Given the description of an element on the screen output the (x, y) to click on. 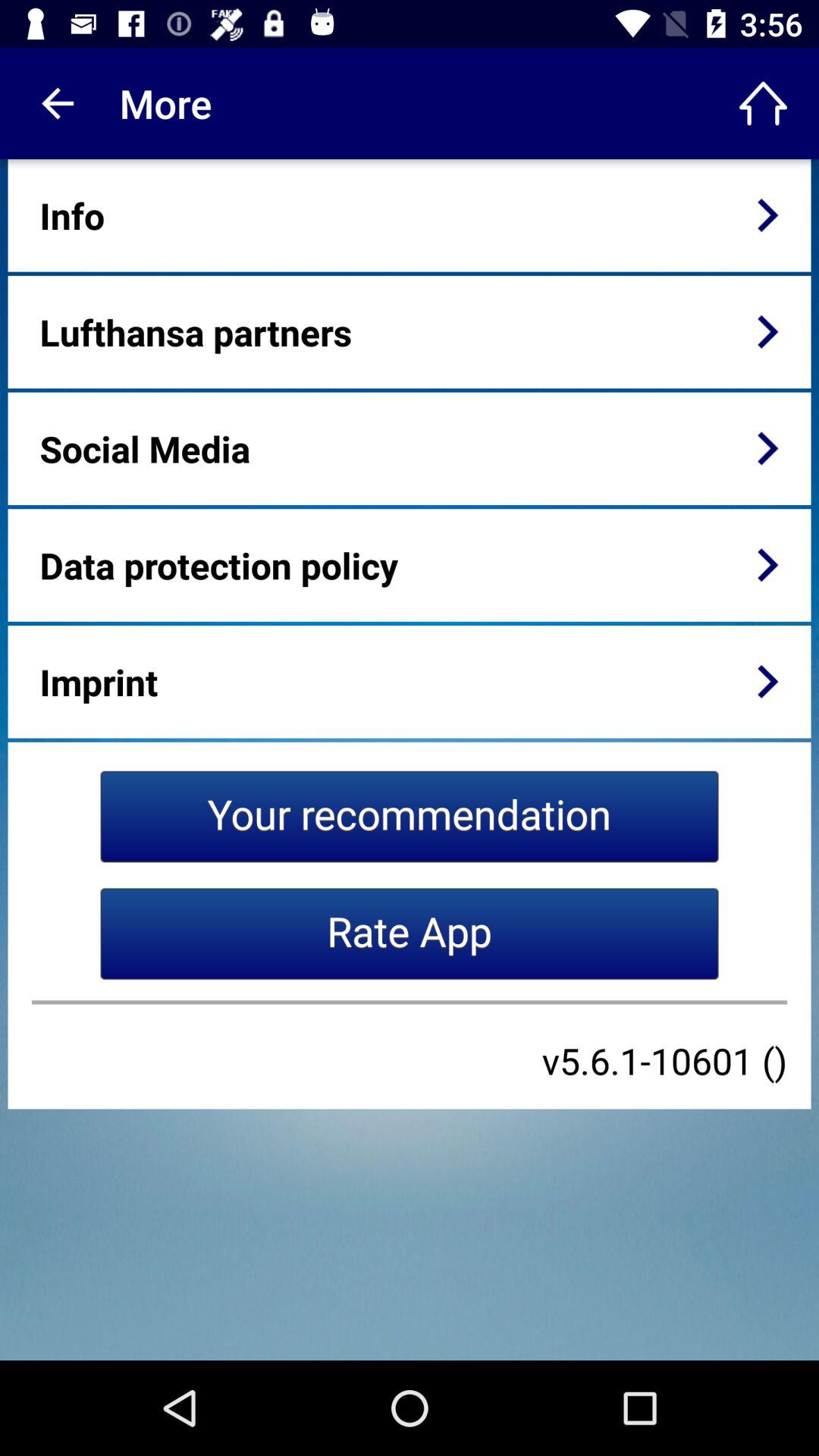
scroll to social media item (144, 448)
